Given the description of an element on the screen output the (x, y) to click on. 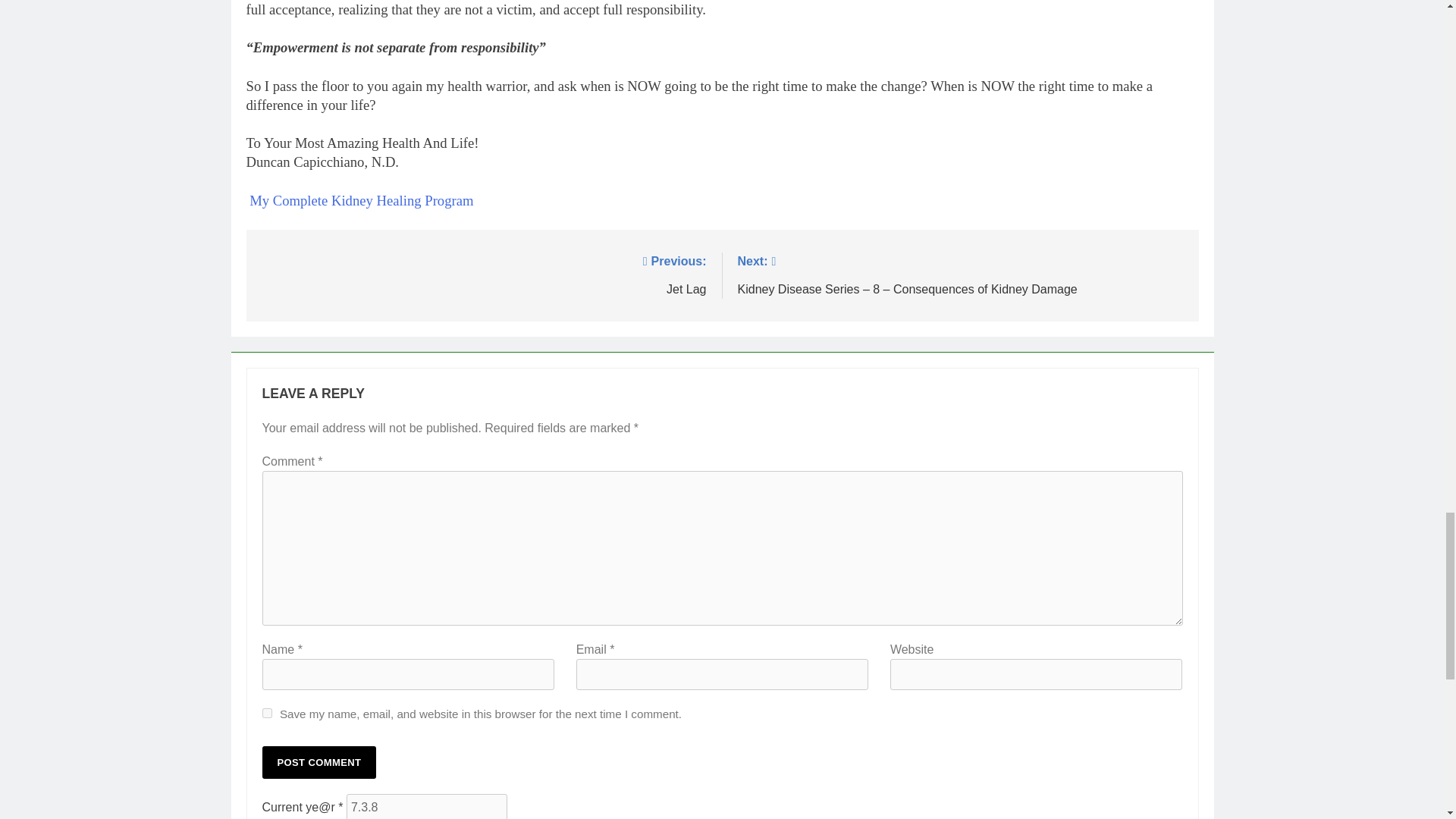
yes (267, 713)
7.3.8 (426, 806)
Post Comment (319, 762)
